Given the description of an element on the screen output the (x, y) to click on. 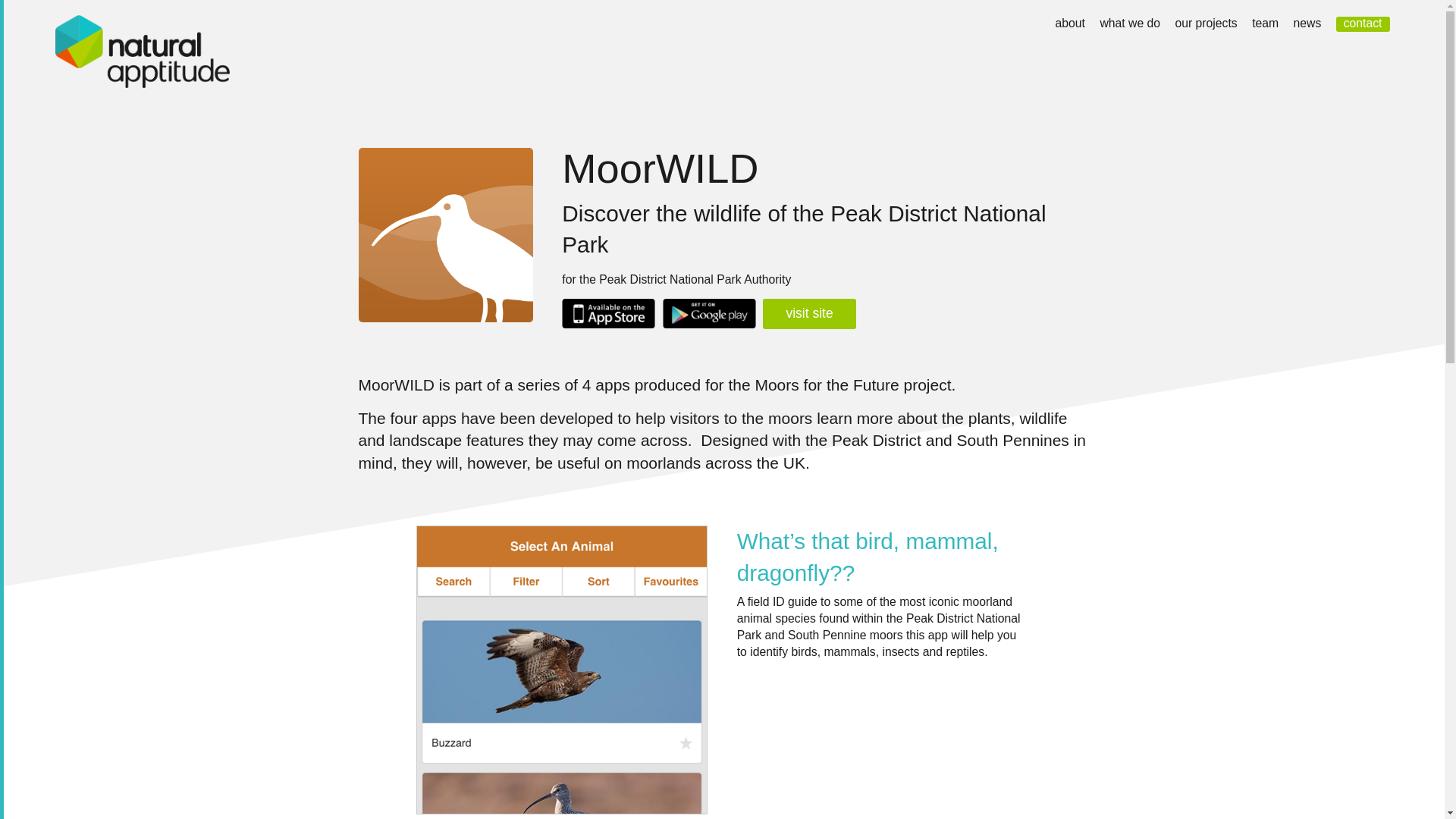
about (1069, 22)
contact (1363, 23)
news (1308, 22)
visit site (809, 313)
team (1265, 22)
what we do (1129, 22)
our projects (1205, 22)
